Given the description of an element on the screen output the (x, y) to click on. 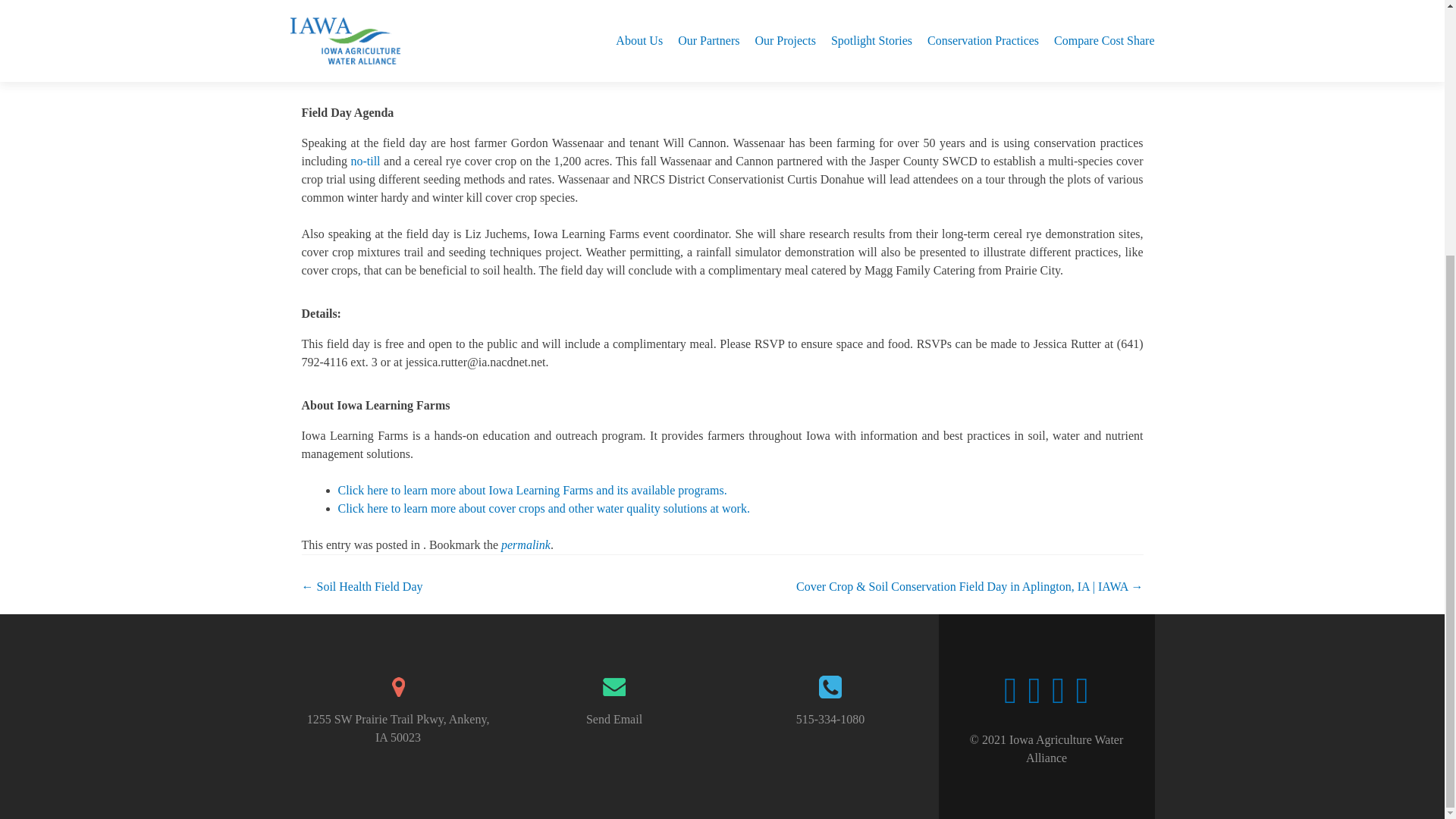
permalink (525, 544)
no-till (365, 160)
Iowa Learning Farms (354, 51)
Send Email (614, 718)
cover crop (1116, 51)
